Given the description of an element on the screen output the (x, y) to click on. 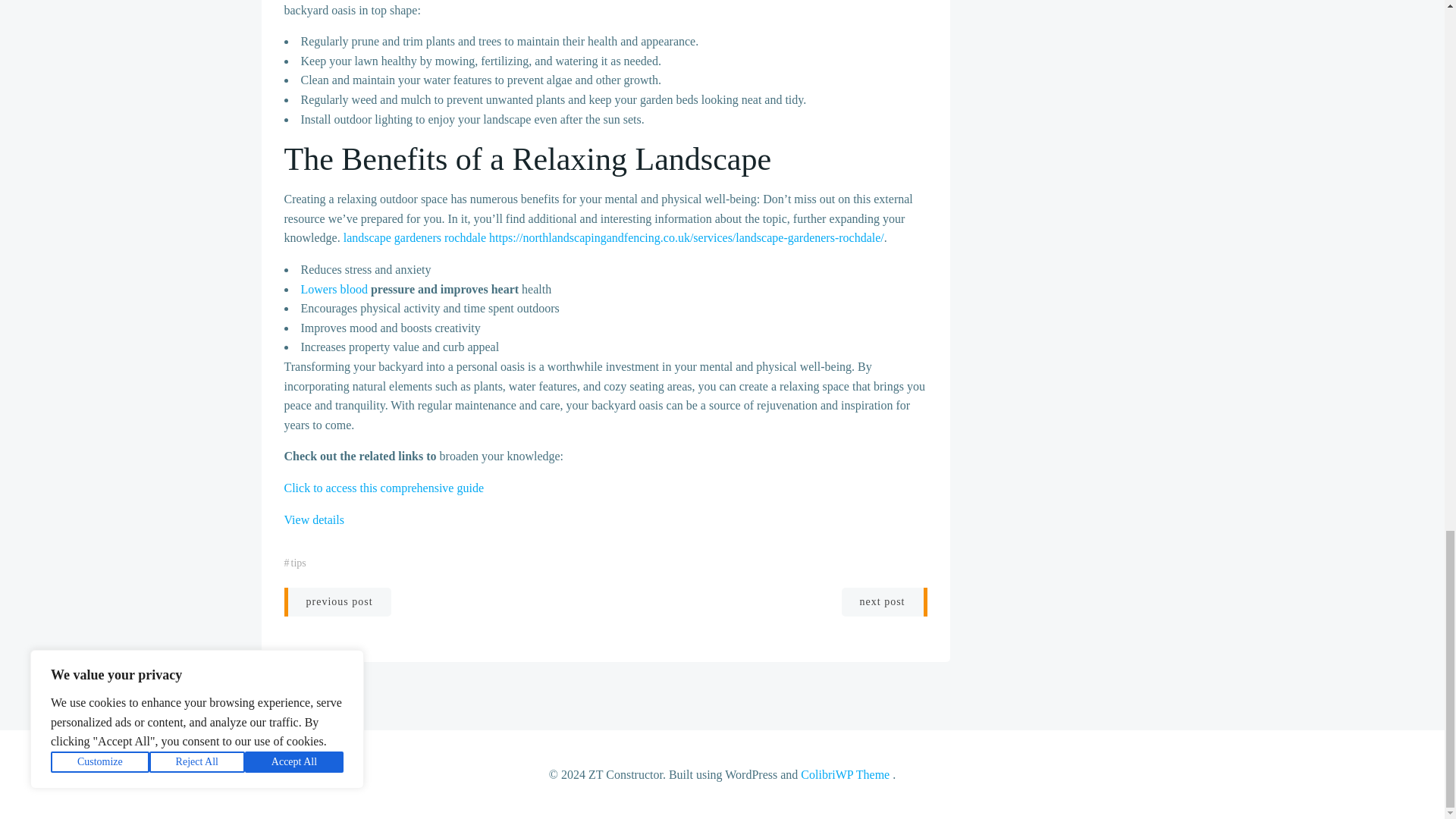
next post (884, 602)
Click to access this comprehensive guide (383, 487)
previous post (336, 602)
View details (313, 519)
Tag: Tips (298, 562)
tips (298, 562)
Lowers blood (332, 288)
